Given the description of an element on the screen output the (x, y) to click on. 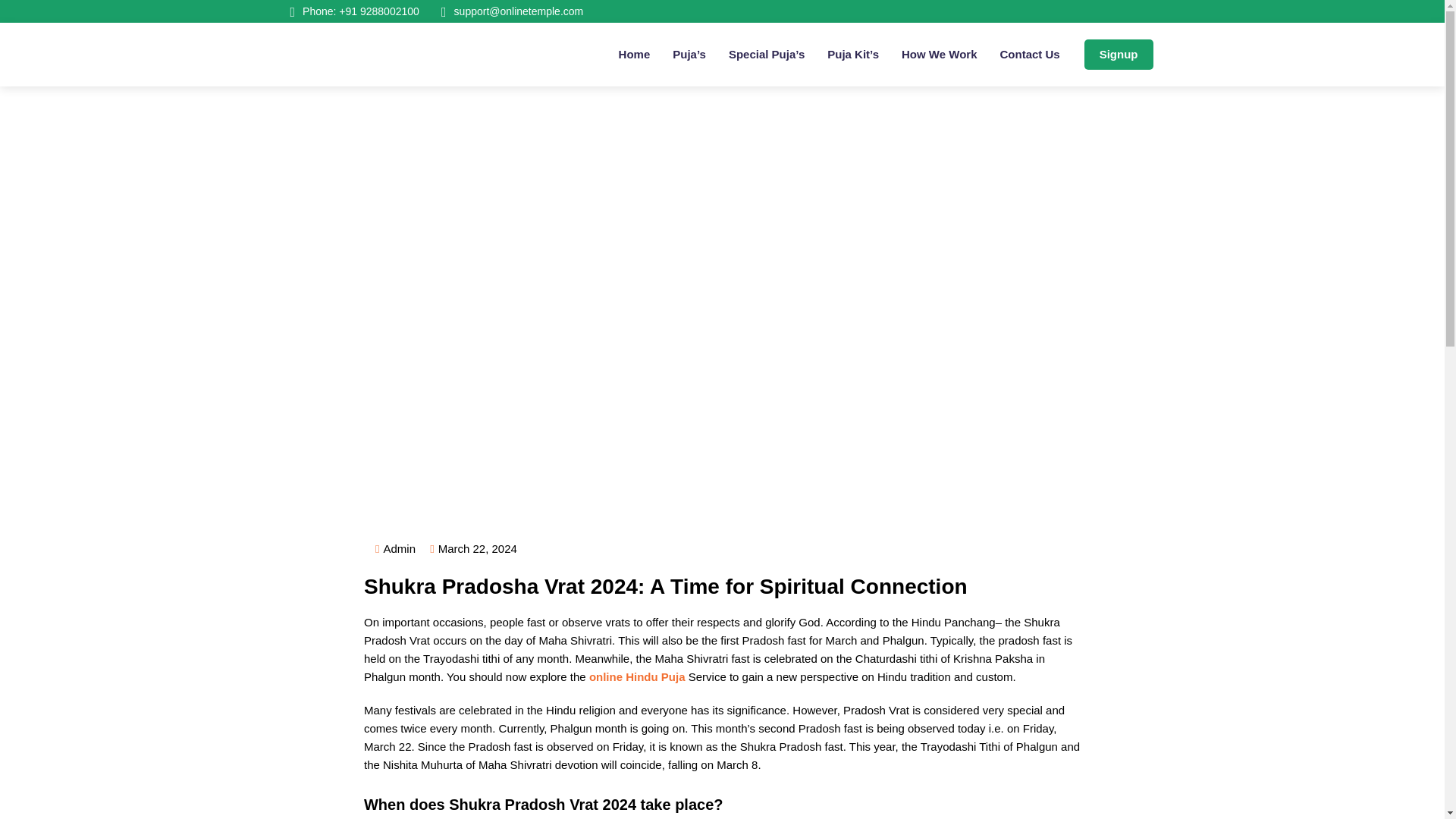
Signup (1118, 54)
online Hindu Puja (637, 676)
Contact Us (1028, 54)
How We Work (938, 54)
